Given the description of an element on the screen output the (x, y) to click on. 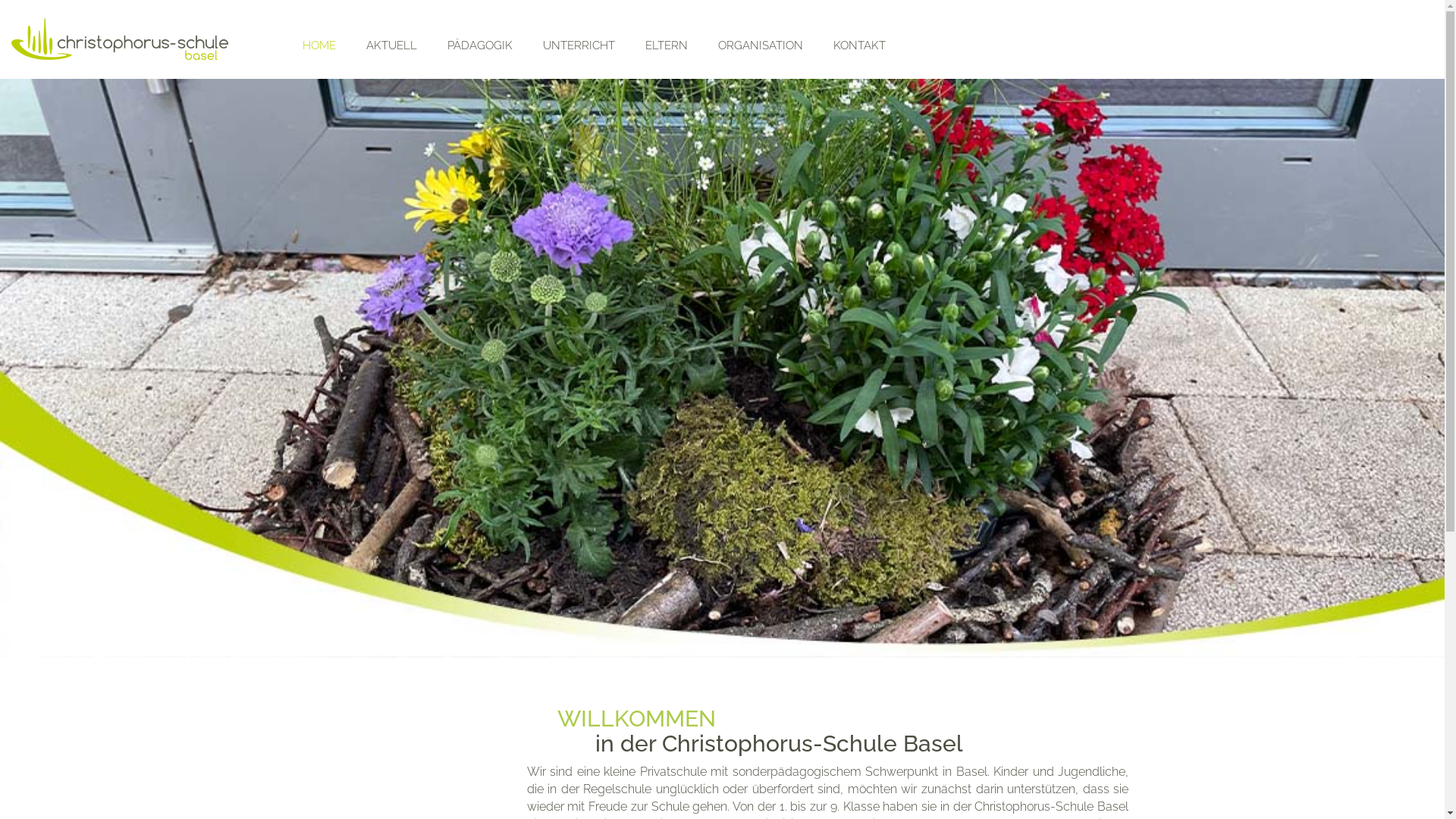
AKTUELL Element type: text (391, 45)
UNTERRICHT Element type: text (578, 45)
KONTAKT Element type: text (859, 45)
HOME Element type: text (318, 45)
ORGANISATION Element type: text (760, 45)
ELTERN Element type: text (666, 45)
